Given the description of an element on the screen output the (x, y) to click on. 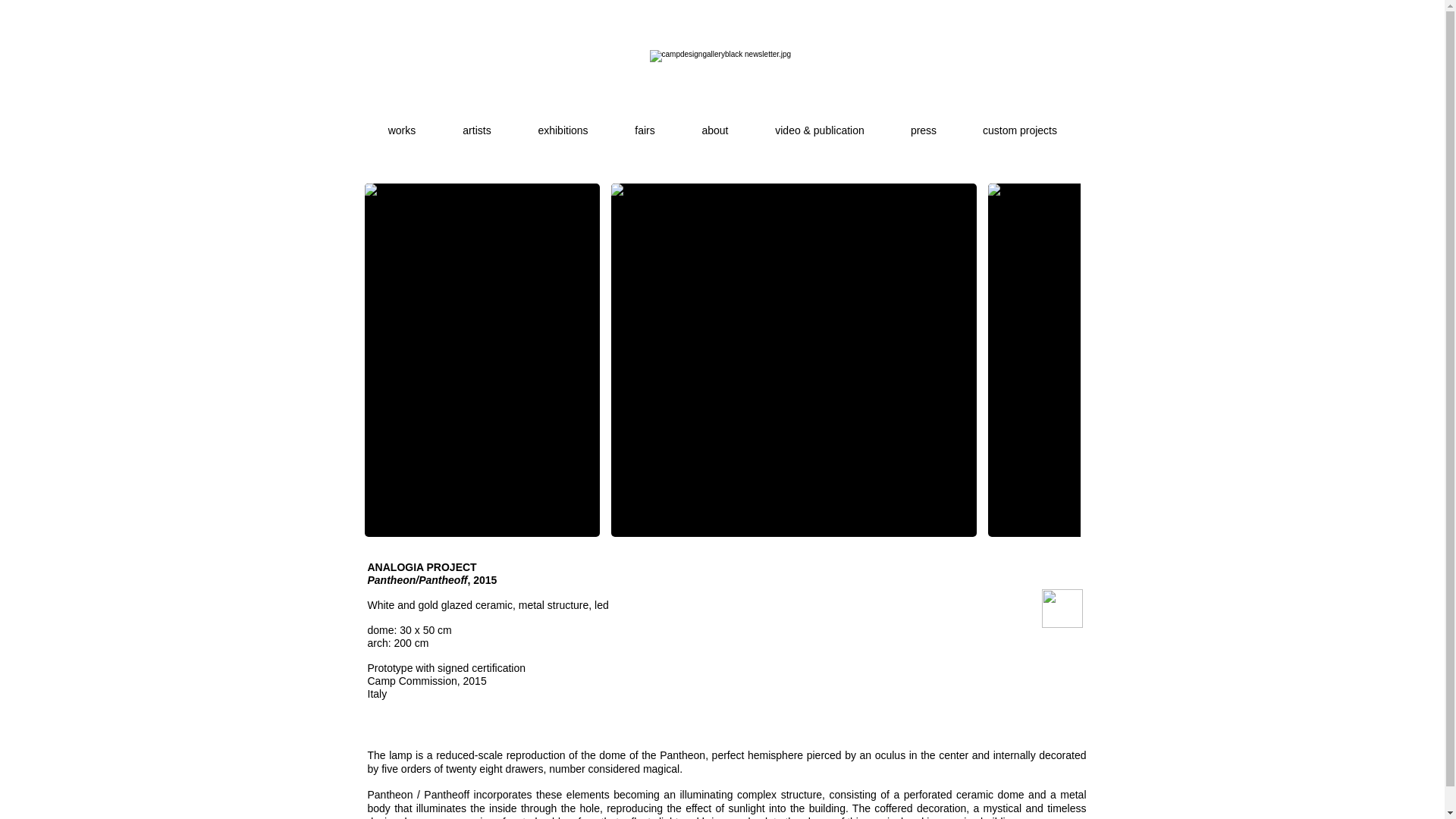
Ask for more info (1062, 608)
fairs (644, 123)
works (401, 123)
custom projects (1019, 123)
artists (477, 123)
about (714, 123)
exhibitions (562, 123)
press (922, 123)
